Given the description of an element on the screen output the (x, y) to click on. 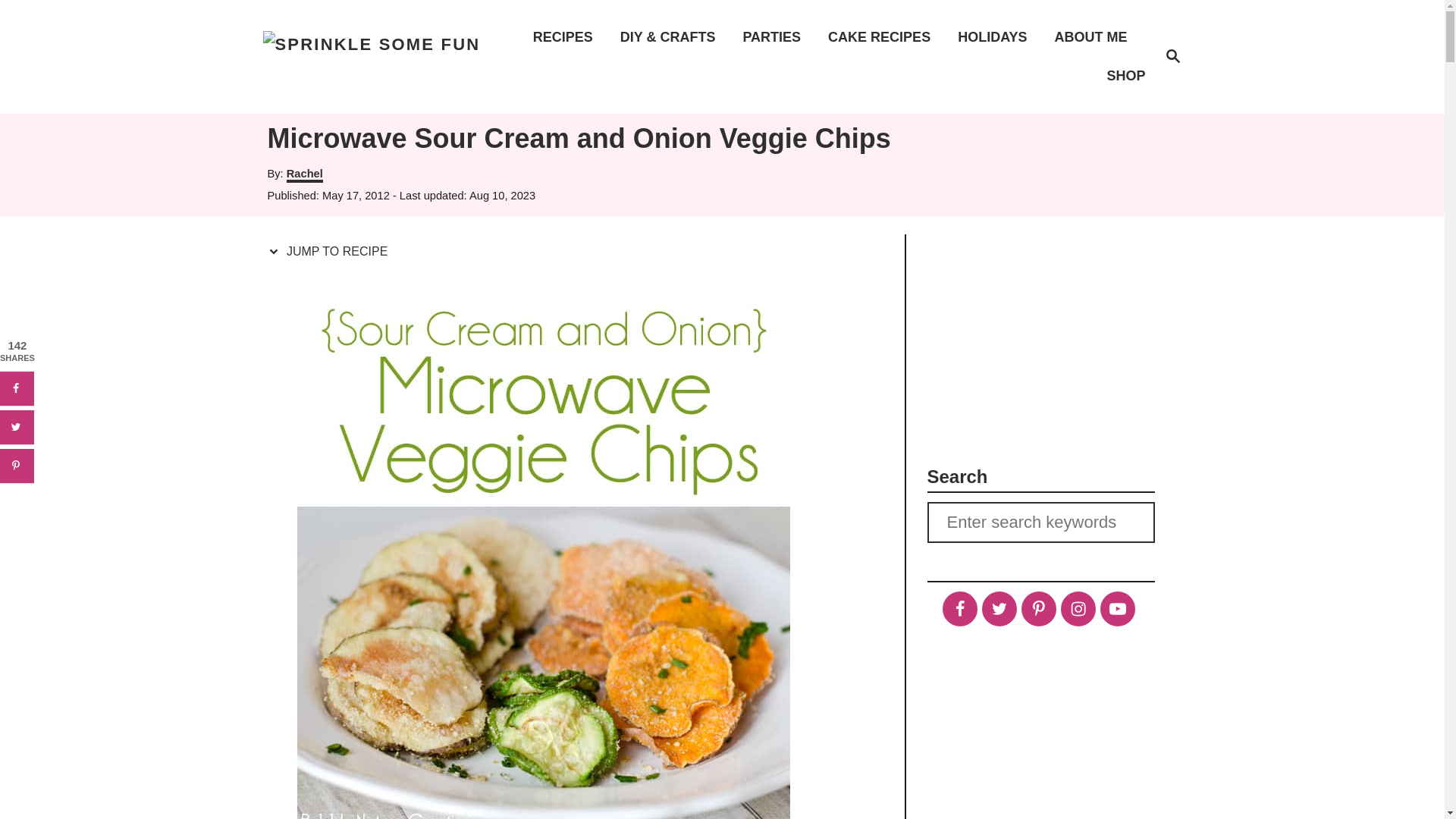
ABOUT ME (1094, 37)
CAKE RECIPES (883, 37)
HOLIDAYS (997, 37)
RECIPES (1171, 56)
Sprinkle Some Fun (567, 37)
Microwave Veggie Chips (371, 56)
SHOP (304, 174)
PARTIES (1120, 75)
Magnifying Glass (775, 37)
JUMP TO RECIPE (1171, 55)
